Given the description of an element on the screen output the (x, y) to click on. 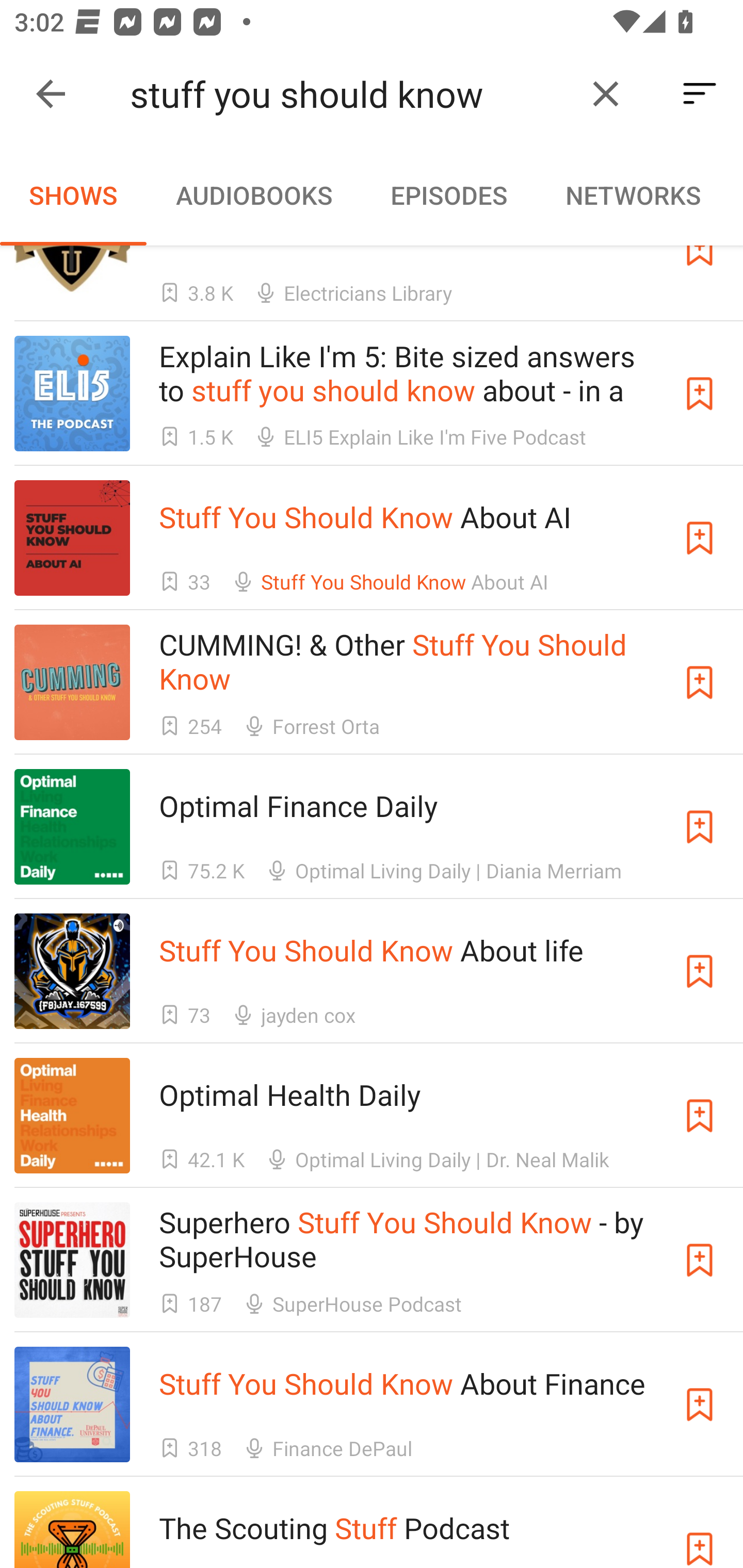
Collapse (50, 93)
Clear query (605, 93)
Sort By (699, 93)
stuff you should know (349, 94)
SHOWS (73, 195)
AUDIOBOOKS (253, 195)
EPISODES (448, 195)
NETWORKS (632, 195)
Subscribe (699, 393)
Subscribe (699, 537)
Subscribe (699, 682)
Subscribe (699, 826)
Subscribe (699, 971)
Subscribe (699, 1115)
Subscribe (699, 1259)
Subscribe (699, 1404)
Subscribe (699, 1529)
